Given the description of an element on the screen output the (x, y) to click on. 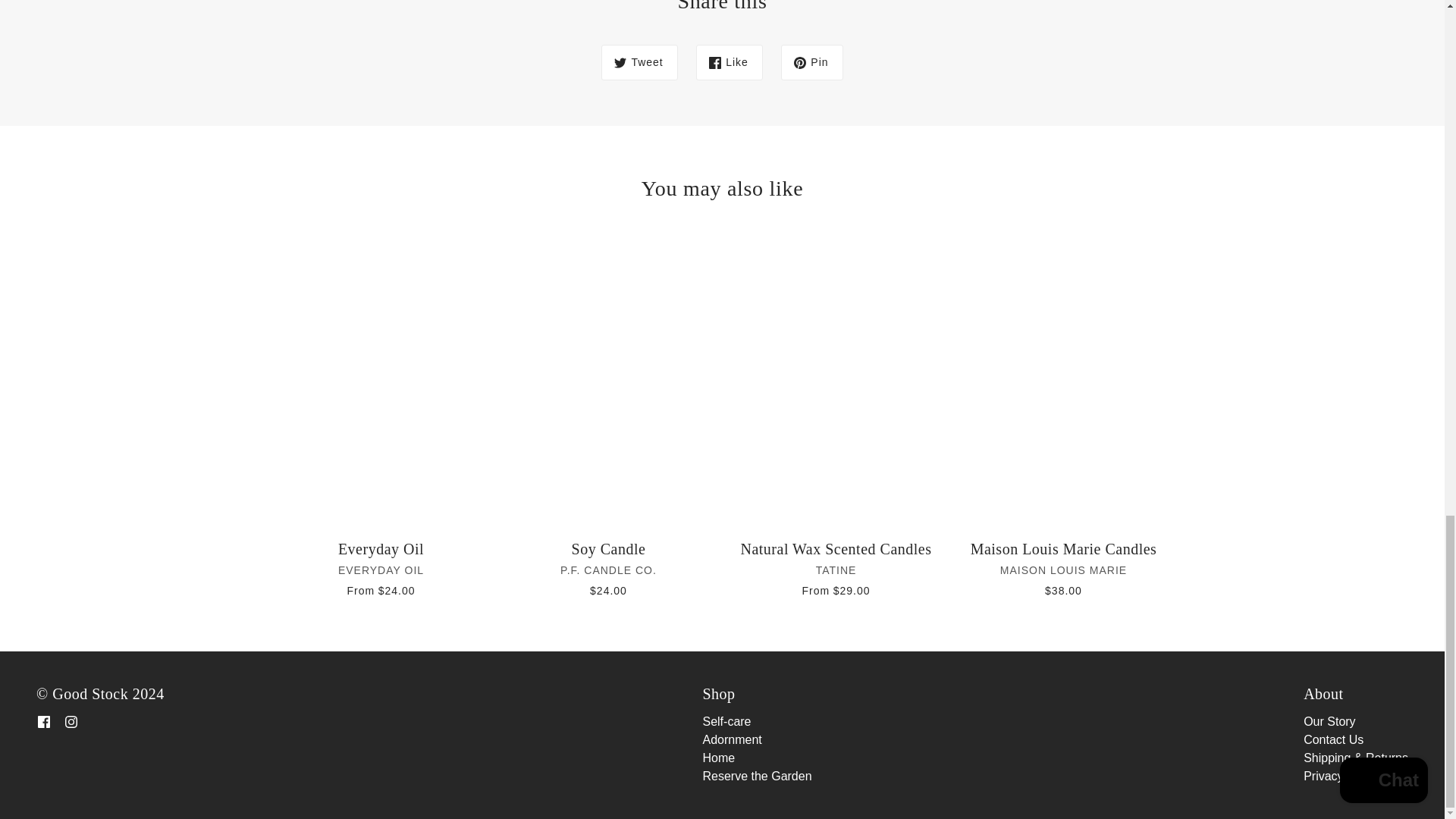
Our Story (1329, 721)
Home (718, 757)
Reserve the Garden (755, 775)
Adornment (731, 739)
Privacy Policy (1340, 775)
Self-care (726, 721)
Contact Us (1332, 739)
